Given the description of an element on the screen output the (x, y) to click on. 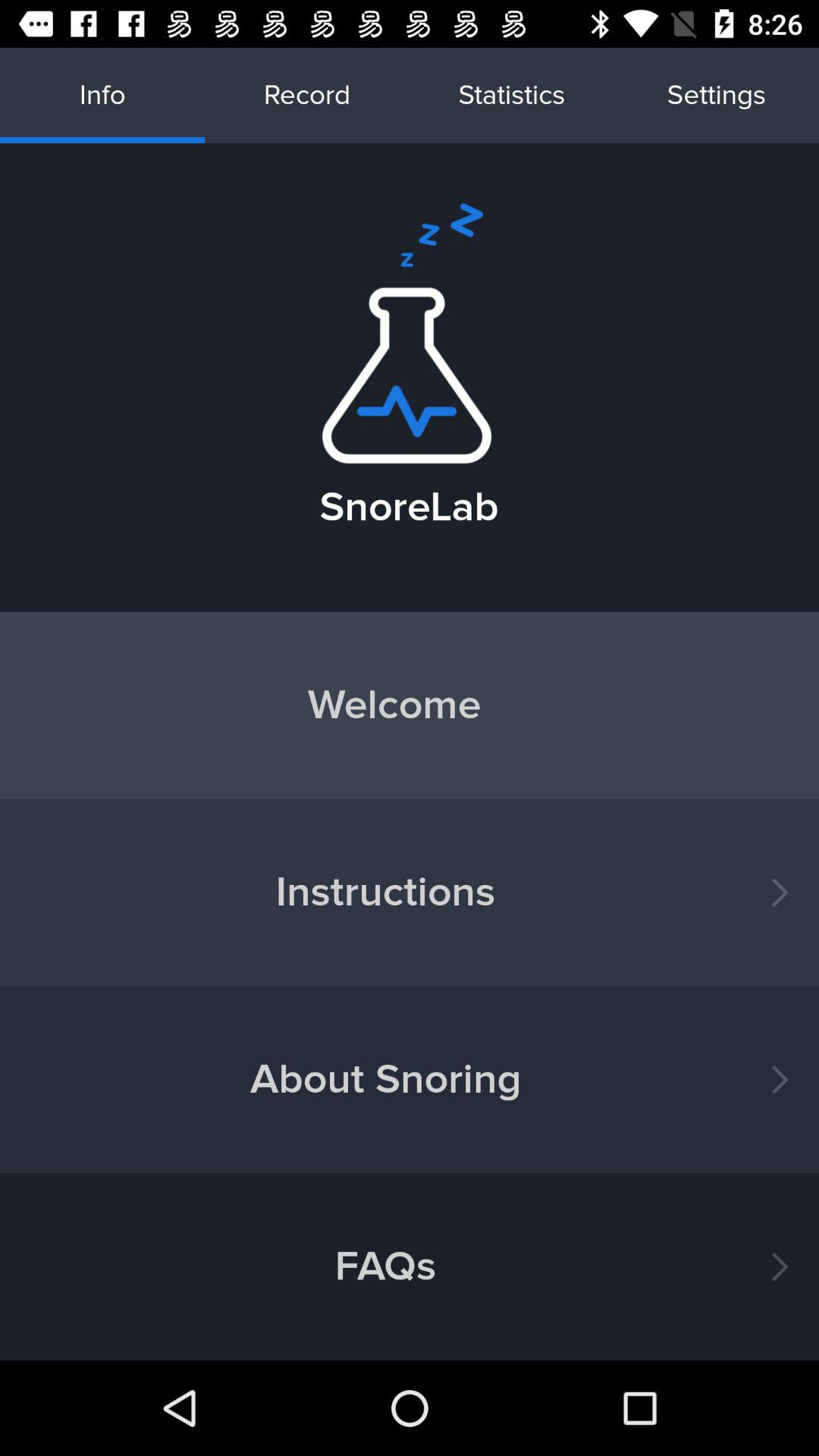
launch button below about snoring button (409, 1266)
